Given the description of an element on the screen output the (x, y) to click on. 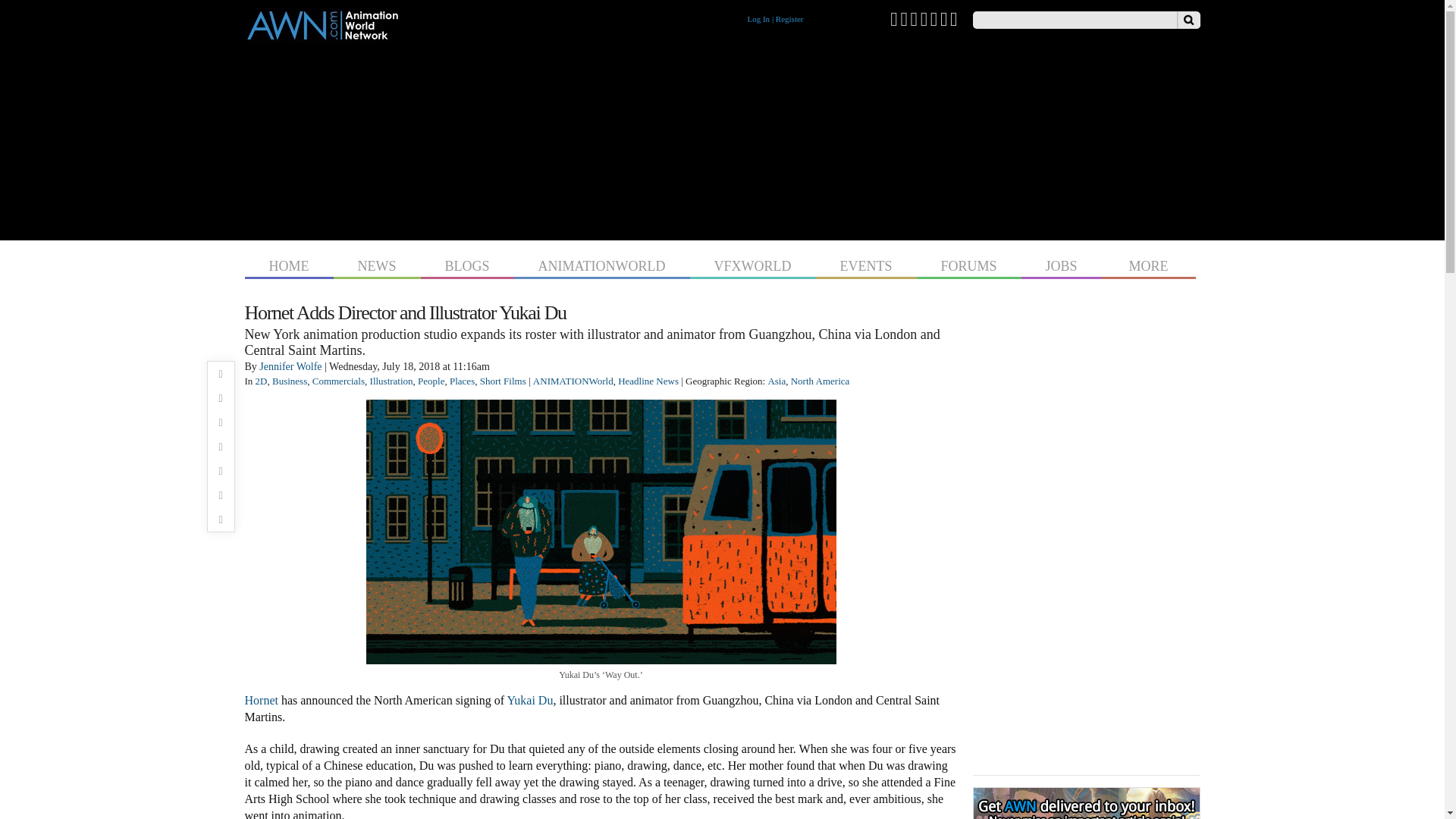
3rd party ad content (722, 137)
Register (789, 18)
Search (1187, 19)
Business (289, 380)
Log In (758, 18)
Commercials (339, 380)
EVENTS (866, 263)
MORE (1148, 263)
ANIMATIONWORLD (601, 263)
NEWS (376, 263)
